Given the description of an element on the screen output the (x, y) to click on. 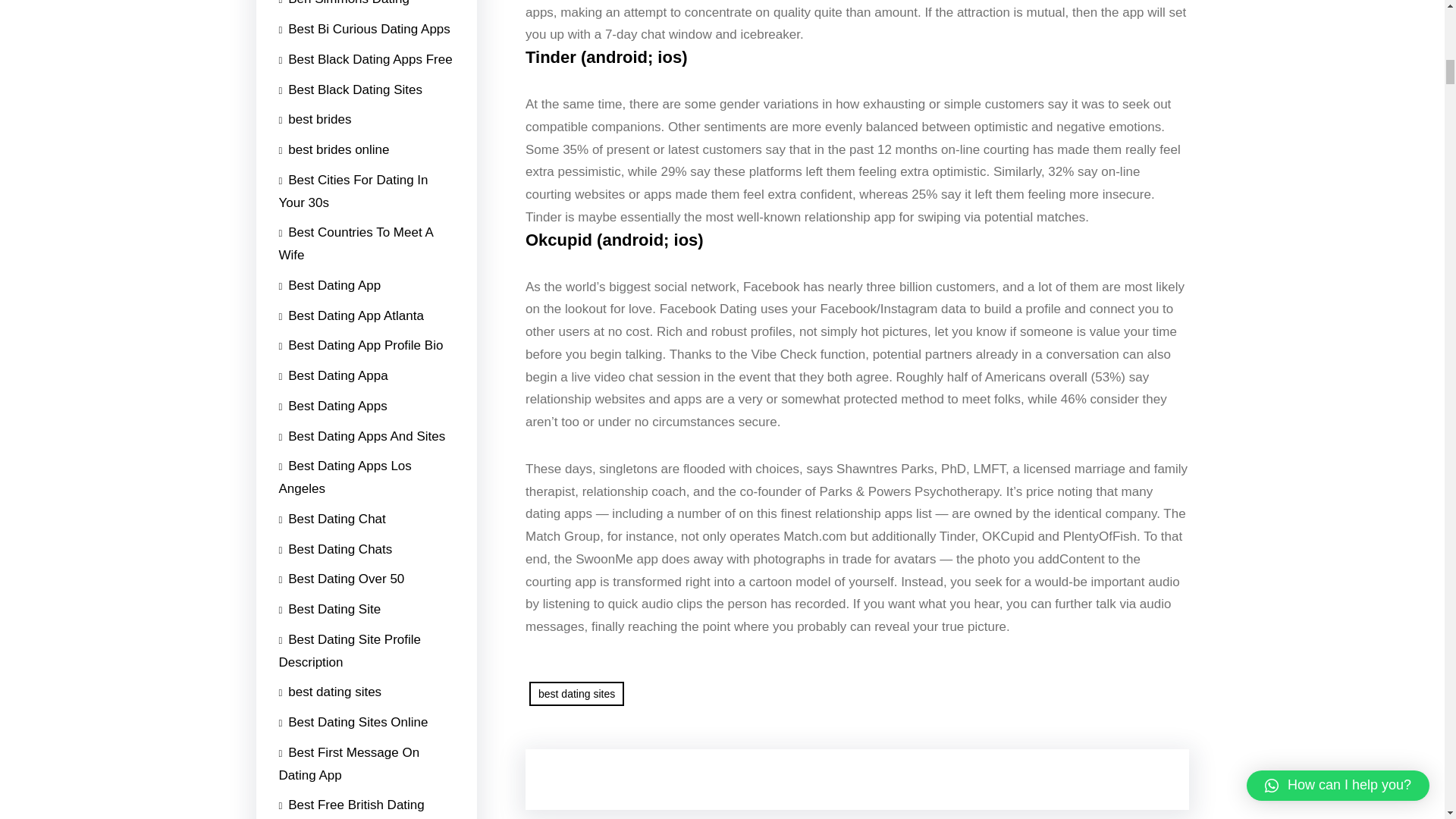
1daycasino777.org (338, 584)
activeslots555.org (336, 30)
1xbet Argentina (328, 265)
10 Best Dating Sites In Usa (362, 812)
1xbet Azerbajan (330, 191)
